Given the description of an element on the screen output the (x, y) to click on. 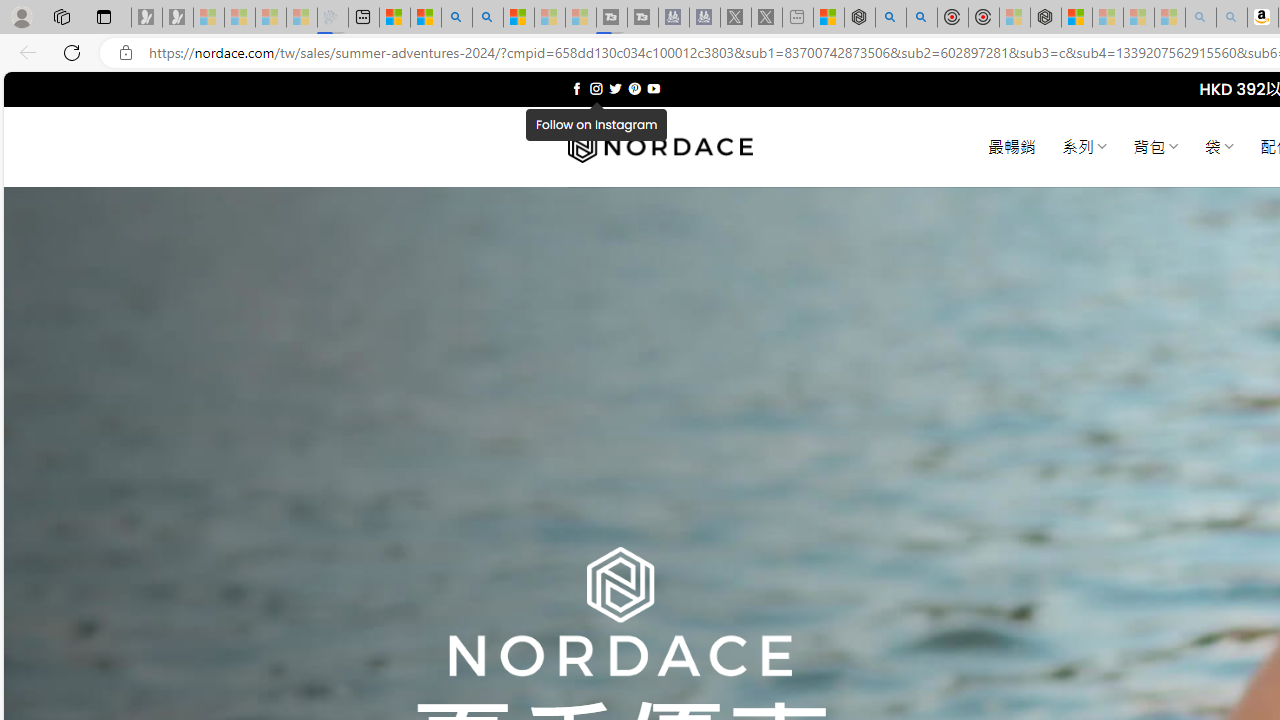
Refresh (72, 52)
Personal Profile (21, 16)
Follow on YouTube (653, 88)
Nordace (659, 147)
Search (487, 17)
Follow on Pinterest (634, 88)
